Given the description of an element on the screen output the (x, y) to click on. 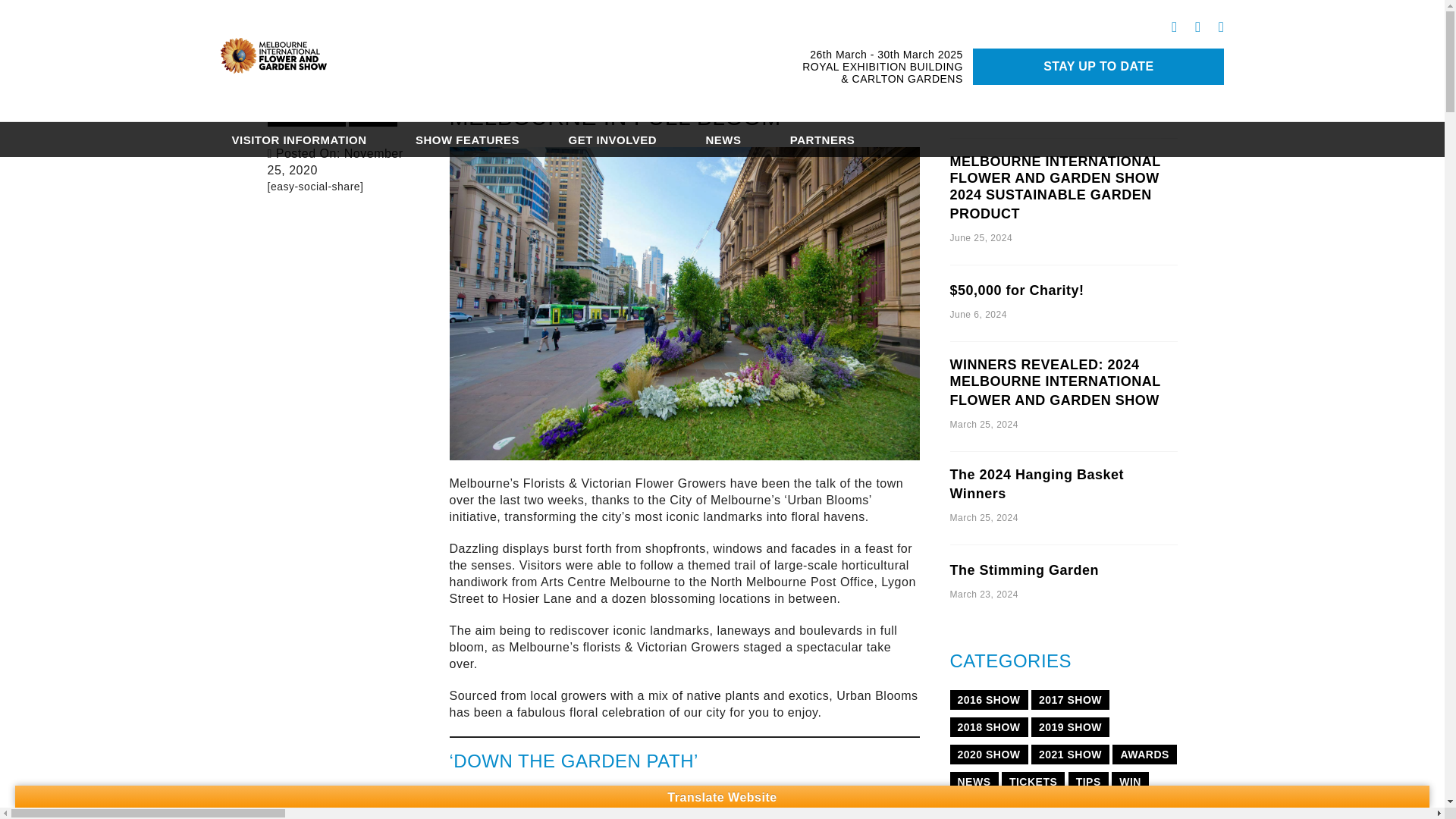
GET INVOLVED (612, 139)
Melbourne Flower Show (272, 60)
SHOW FEATURES (467, 139)
Melbourne Flower Show (272, 60)
STAY UP TO DATE (1098, 66)
STAY UP TO DATE (1098, 66)
VISITOR INFORMATION (298, 139)
